Given the description of an element on the screen output the (x, y) to click on. 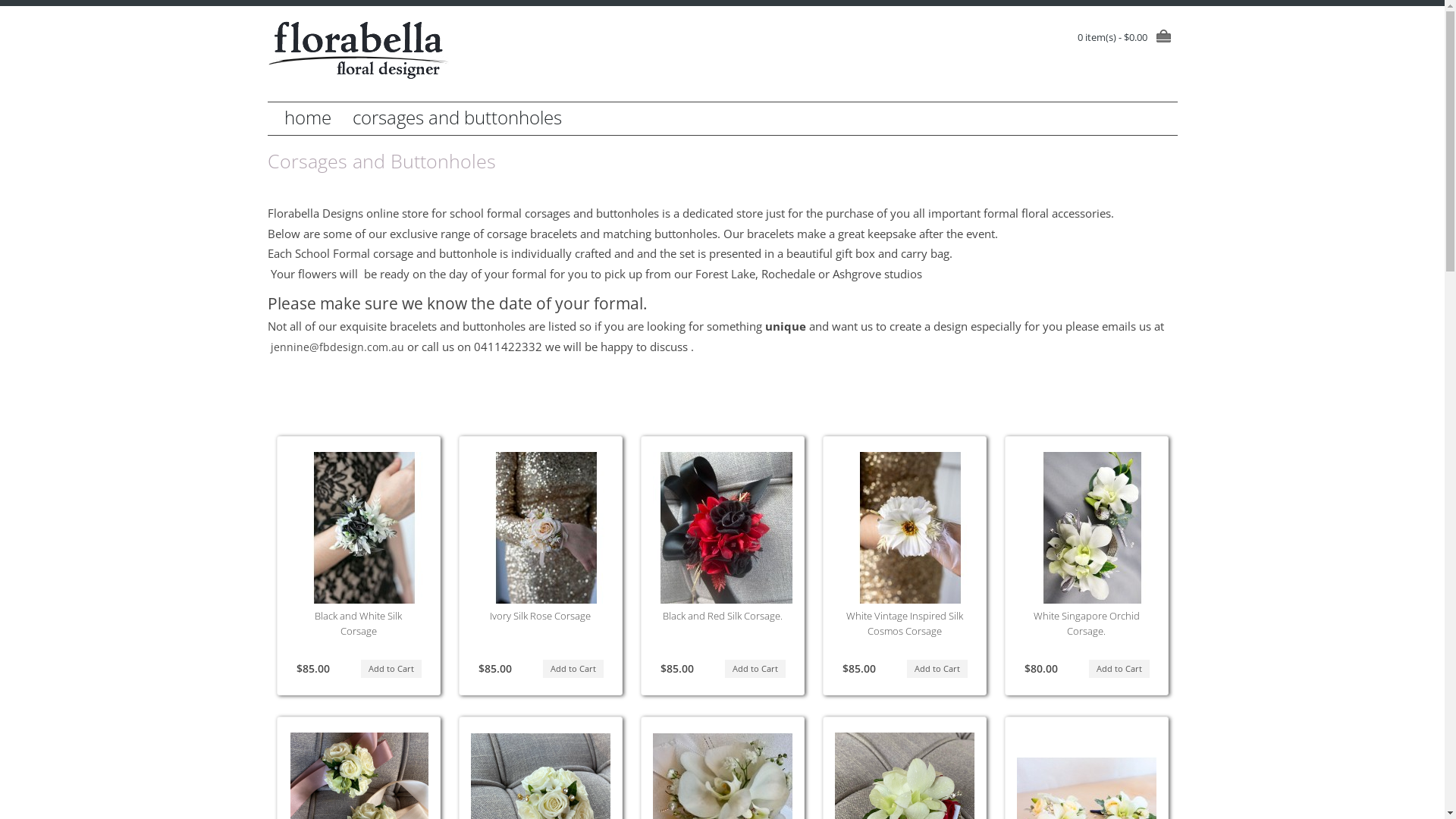
White Vintage Inspired Silk Cosmos Corsage Element type: text (904, 622)
 jennine@fbdesign.com.au Element type: text (334, 346)
0 item(s) - $0.00 Element type: text (1126, 37)
White Singapore Orchid Corsage. Element type: text (1085, 622)
corsages and buttonholes Element type: text (456, 117)
Add to Cart Element type: text (390, 668)
 Ivory Silk Rose Corsage   Element type: hover (545, 527)
Black and Red Silk Corsage. Element type: text (722, 615)
Florabella Design Element type: hover (357, 49)
  White Singapore Orchid Corsage.  Element type: hover (1091, 527)
Add to Cart Element type: text (572, 668)
Add to Cart Element type: text (936, 668)
home Element type: text (307, 117)
 Black and Red Silk Corsage.   Element type: hover (727, 527)
Ivory Silk Rose Corsage Element type: text (539, 615)
White Vintage Inspired Silk Cosmos Corsage  Element type: hover (909, 527)
Add to Cart Element type: text (754, 668)
Black and White Silk Corsage Element type: text (357, 622)
 Black and White Silk Corsage  Element type: hover (363, 527)
Add to Cart Element type: text (1118, 668)
